Given the description of an element on the screen output the (x, y) to click on. 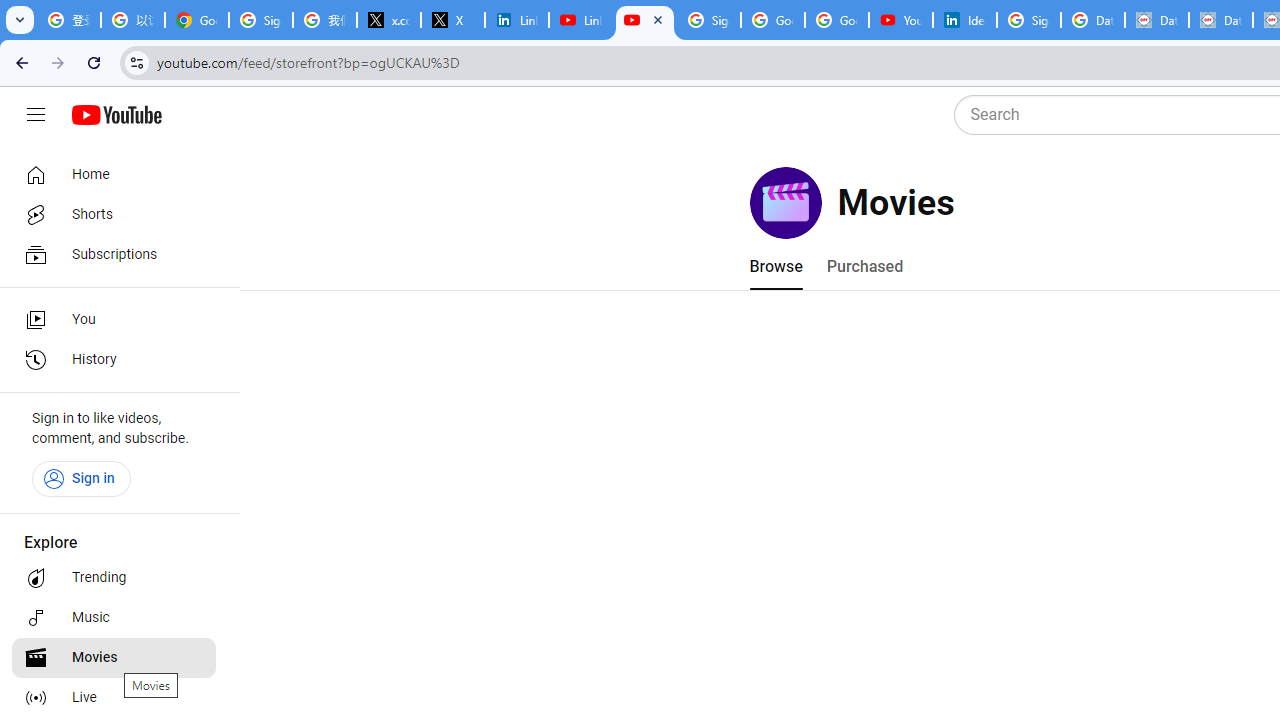
Home (113, 174)
Purchased (864, 266)
Guide (35, 115)
Data Privacy Framework (1221, 20)
History (113, 359)
Trending (113, 578)
YouTube (645, 20)
